Given the description of an element on the screen output the (x, y) to click on. 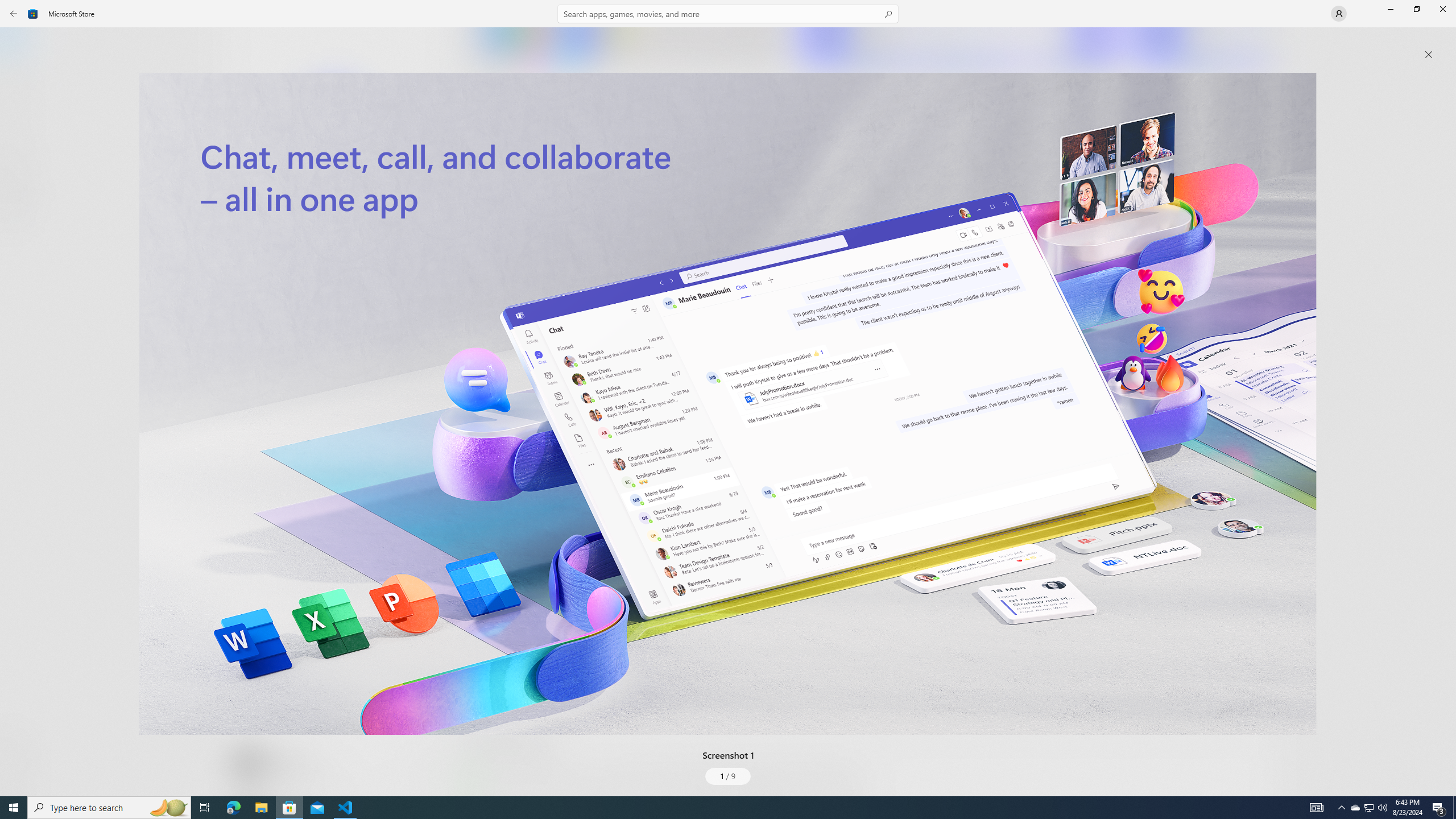
Age rating: EVERYONE. Click for more information. (287, 762)
Show less (482, 703)
Share (424, 769)
AutomationID: NavigationControl (728, 398)
Microsoft Corporation (383, 189)
Sign in to review (501, 379)
Show all ratings and reviews (1253, 281)
